Given the description of an element on the screen output the (x, y) to click on. 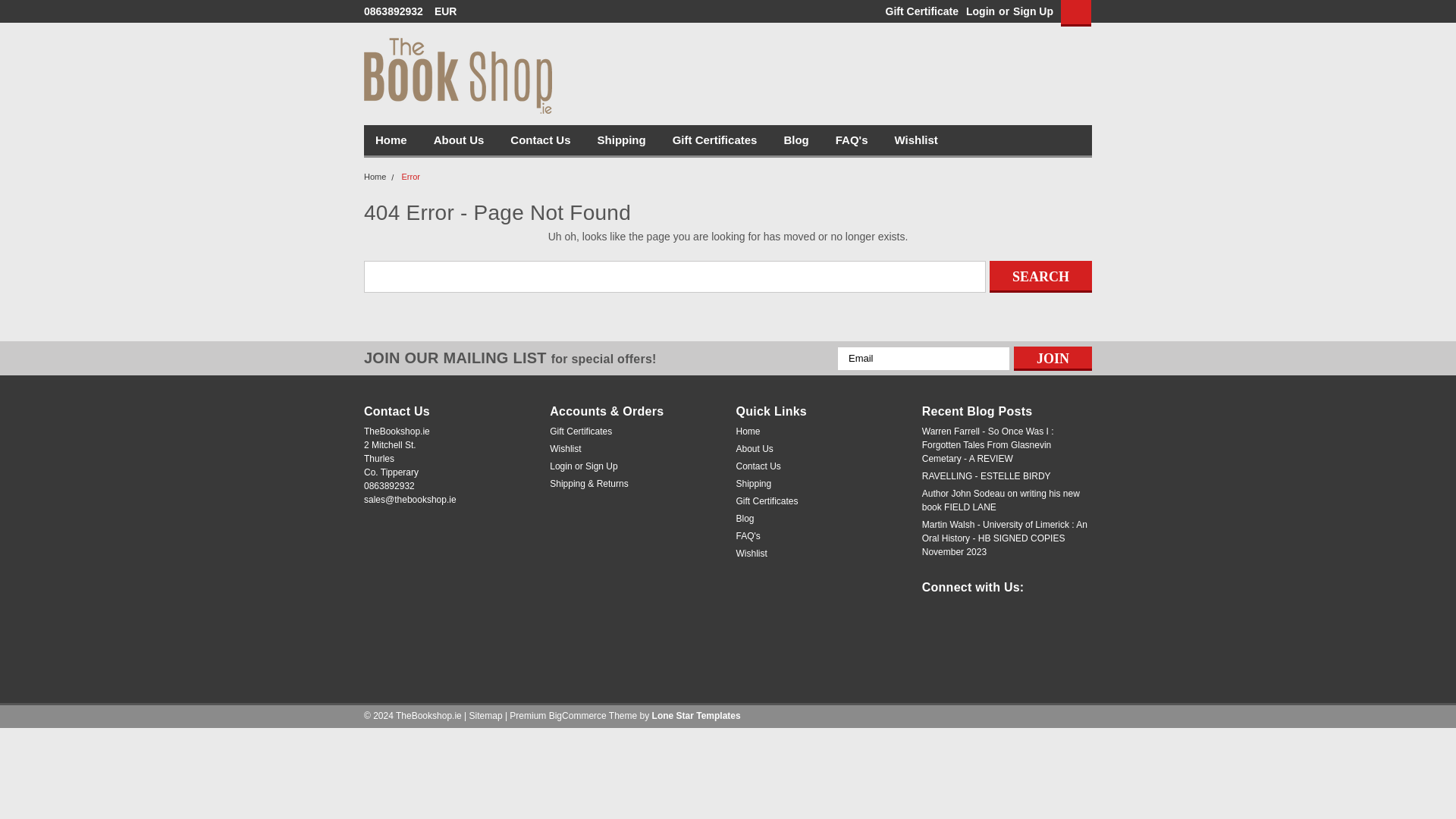
Join (1052, 357)
Search (1041, 276)
Login (980, 11)
Sign Up (1030, 11)
Gift Certificate (917, 11)
TheBookshop.ie (457, 75)
EUR (450, 11)
Currency Selector (450, 11)
